Given the description of an element on the screen output the (x, y) to click on. 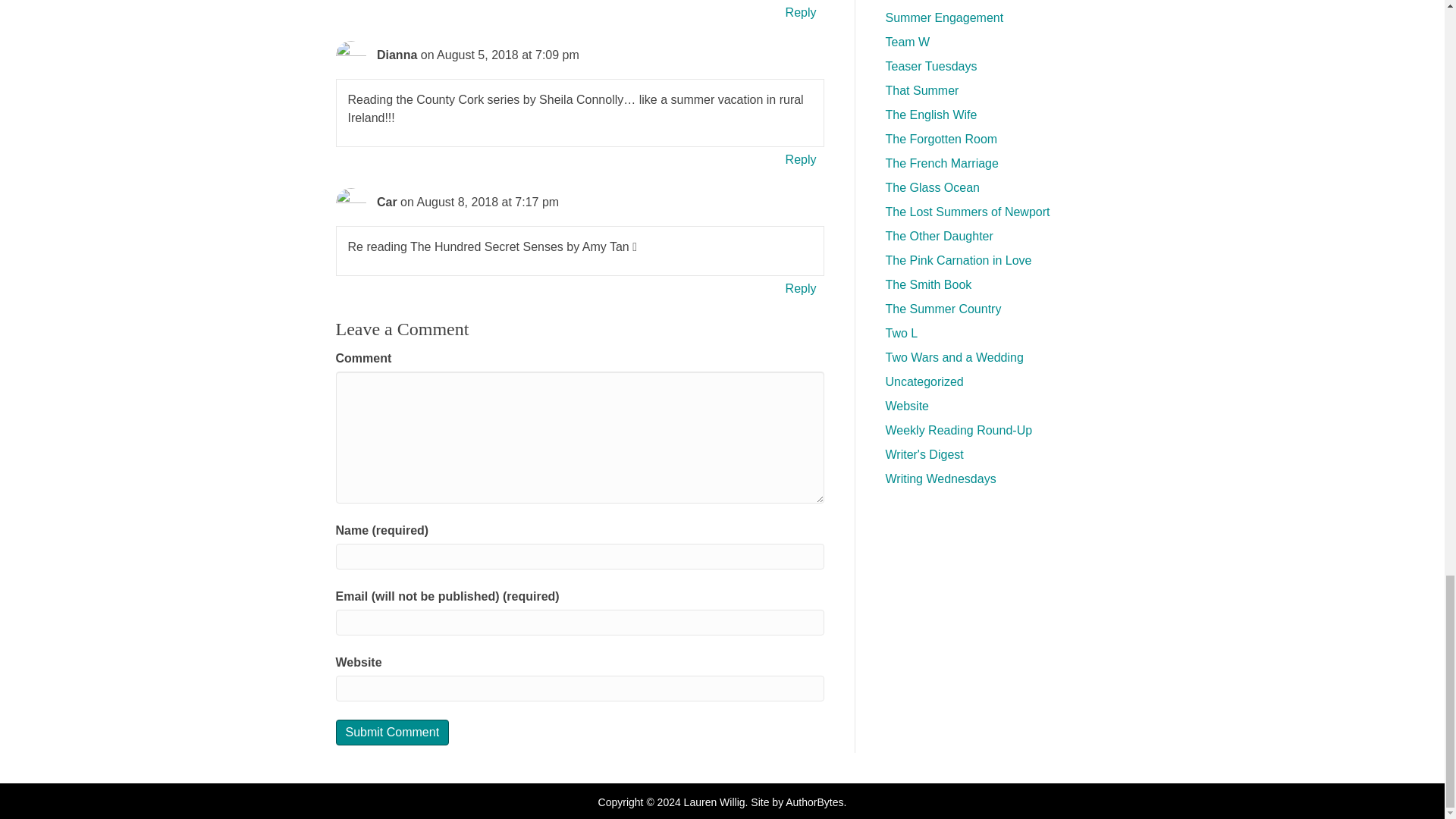
Reply (801, 12)
Reply (801, 288)
Reply (801, 159)
Submit Comment (391, 731)
